Given the description of an element on the screen output the (x, y) to click on. 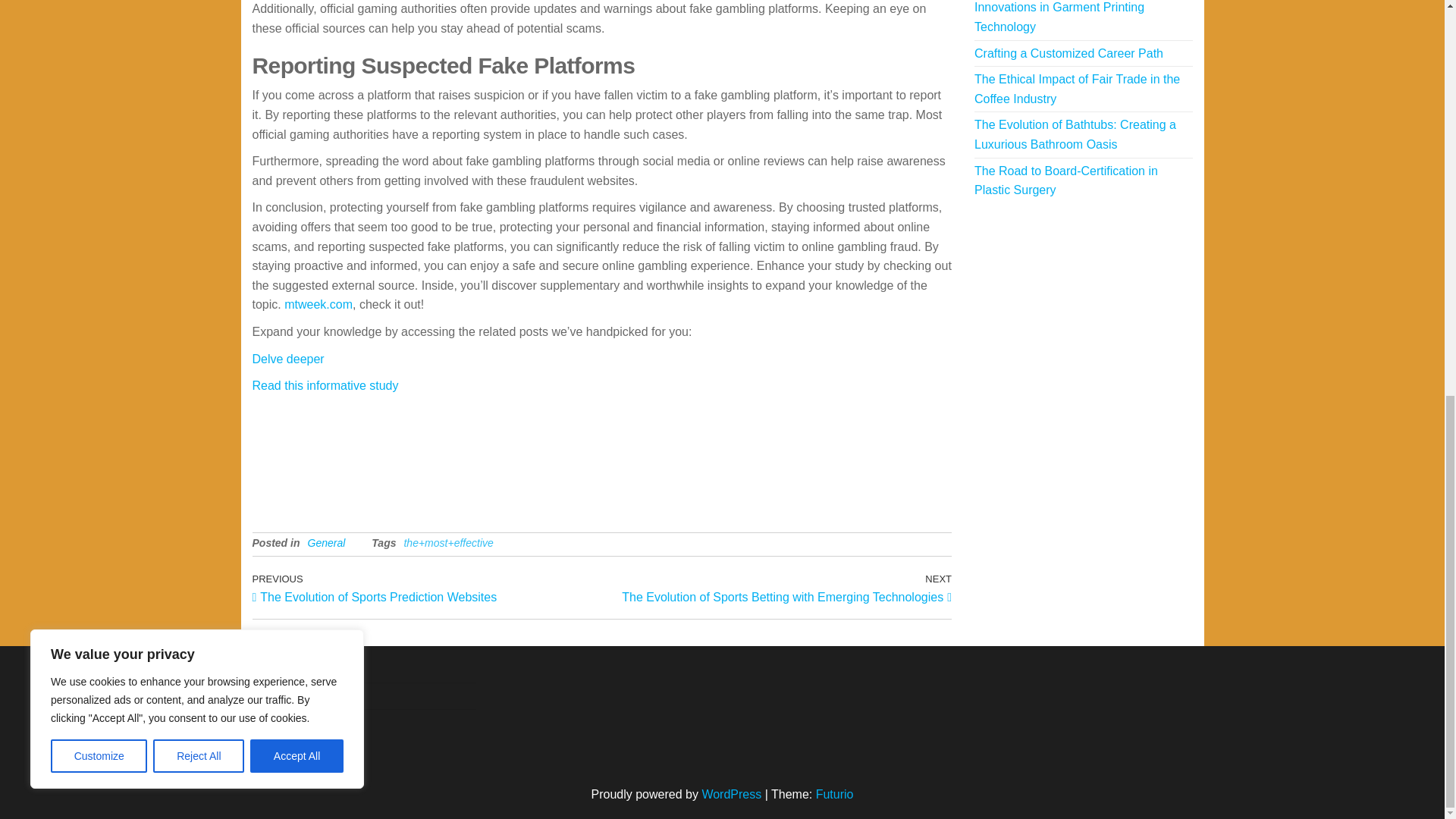
General (326, 542)
Accept All (296, 3)
Reject All (198, 3)
Customize (98, 3)
Delve deeper (287, 358)
Read this informative study (324, 385)
mtweek.com (317, 304)
